Given the description of an element on the screen output the (x, y) to click on. 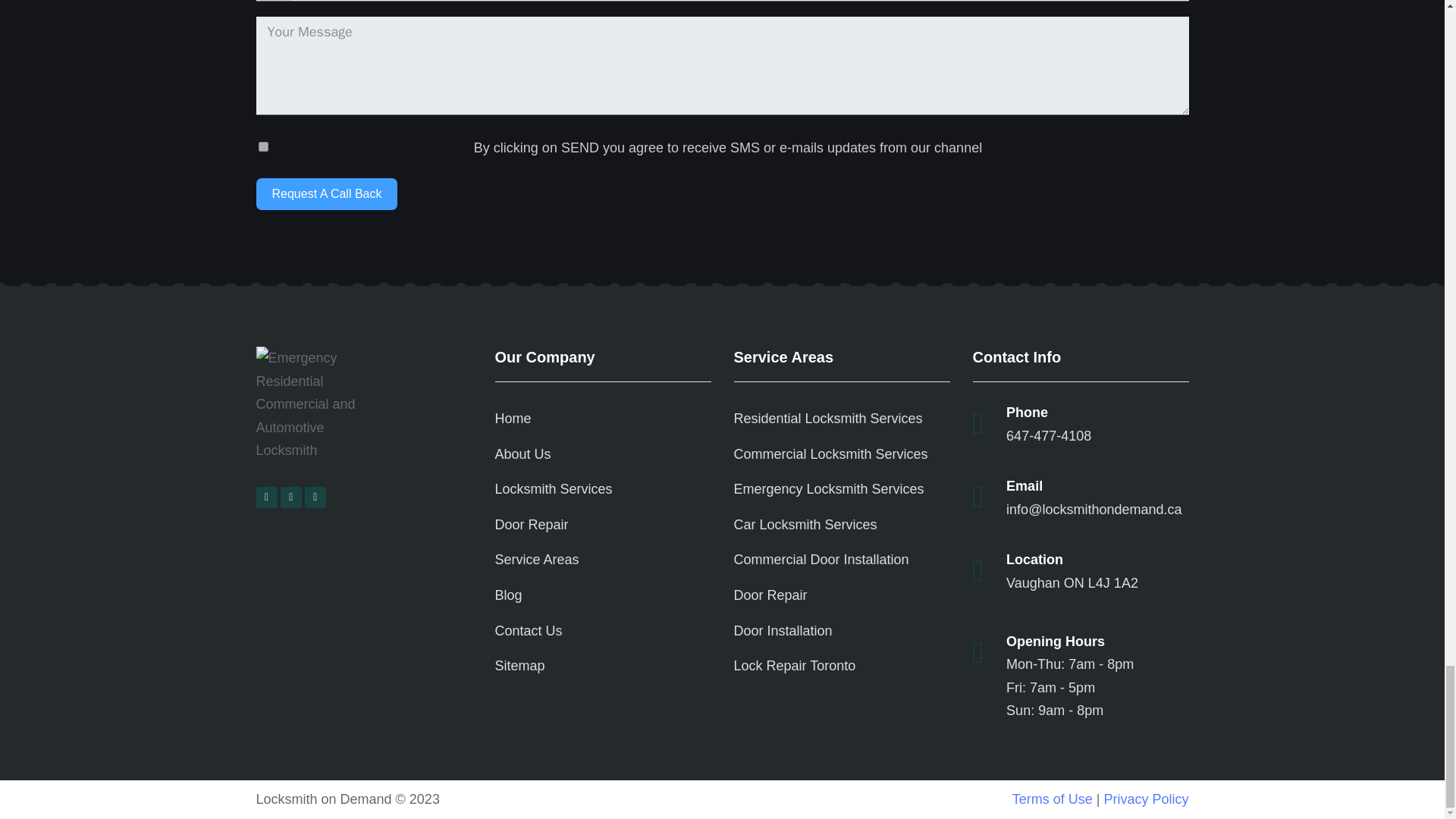
on (263, 146)
